Given the description of an element on the screen output the (x, y) to click on. 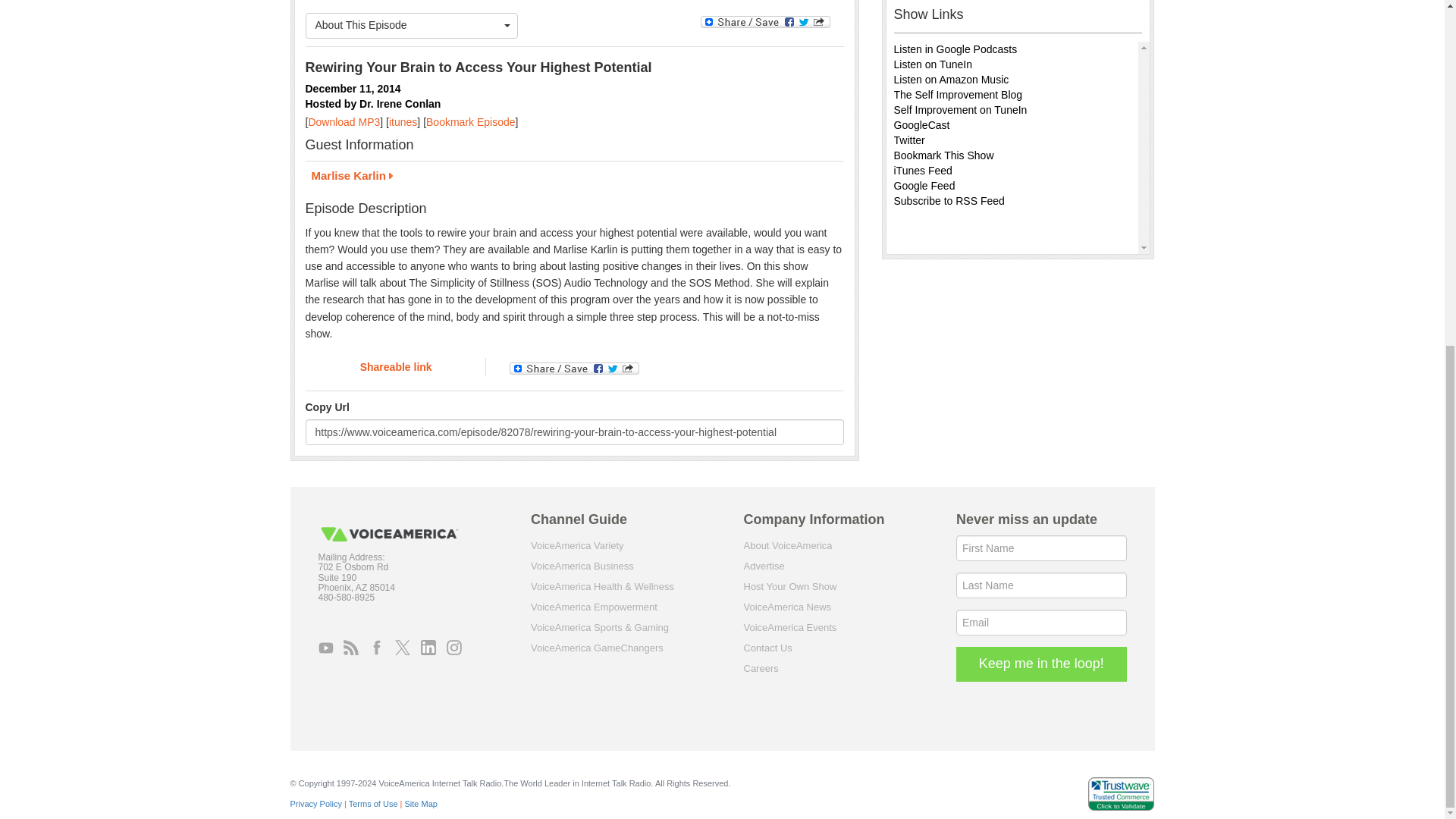
Marlise Karlin (573, 177)
